Given the description of an element on the screen output the (x, y) to click on. 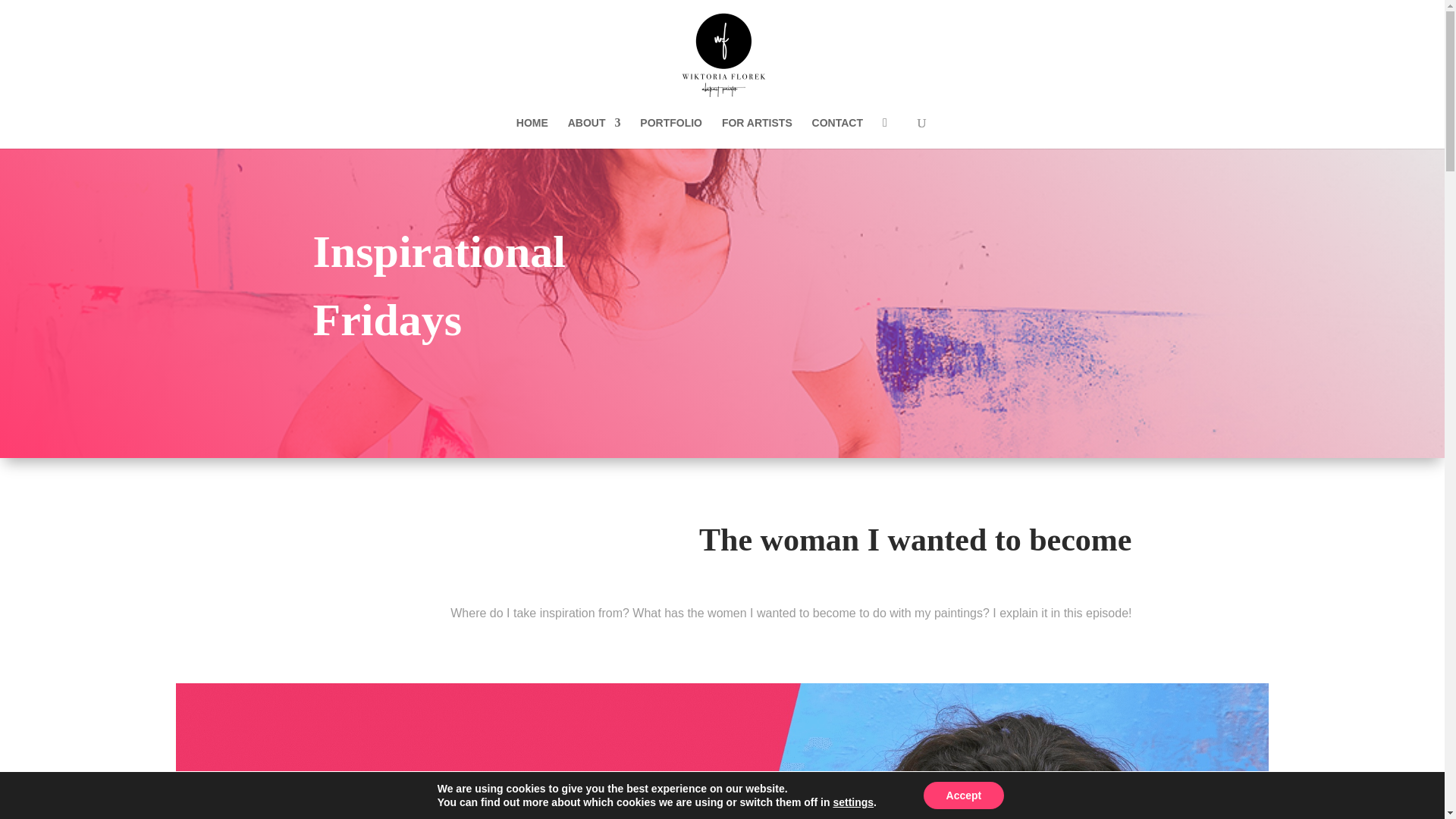
HOME (532, 132)
Accept (963, 795)
ABOUT (594, 132)
FOR ARTISTS (757, 132)
settings (852, 802)
CONTACT (837, 132)
PORTFOLIO (670, 132)
